Given the description of an element on the screen output the (x, y) to click on. 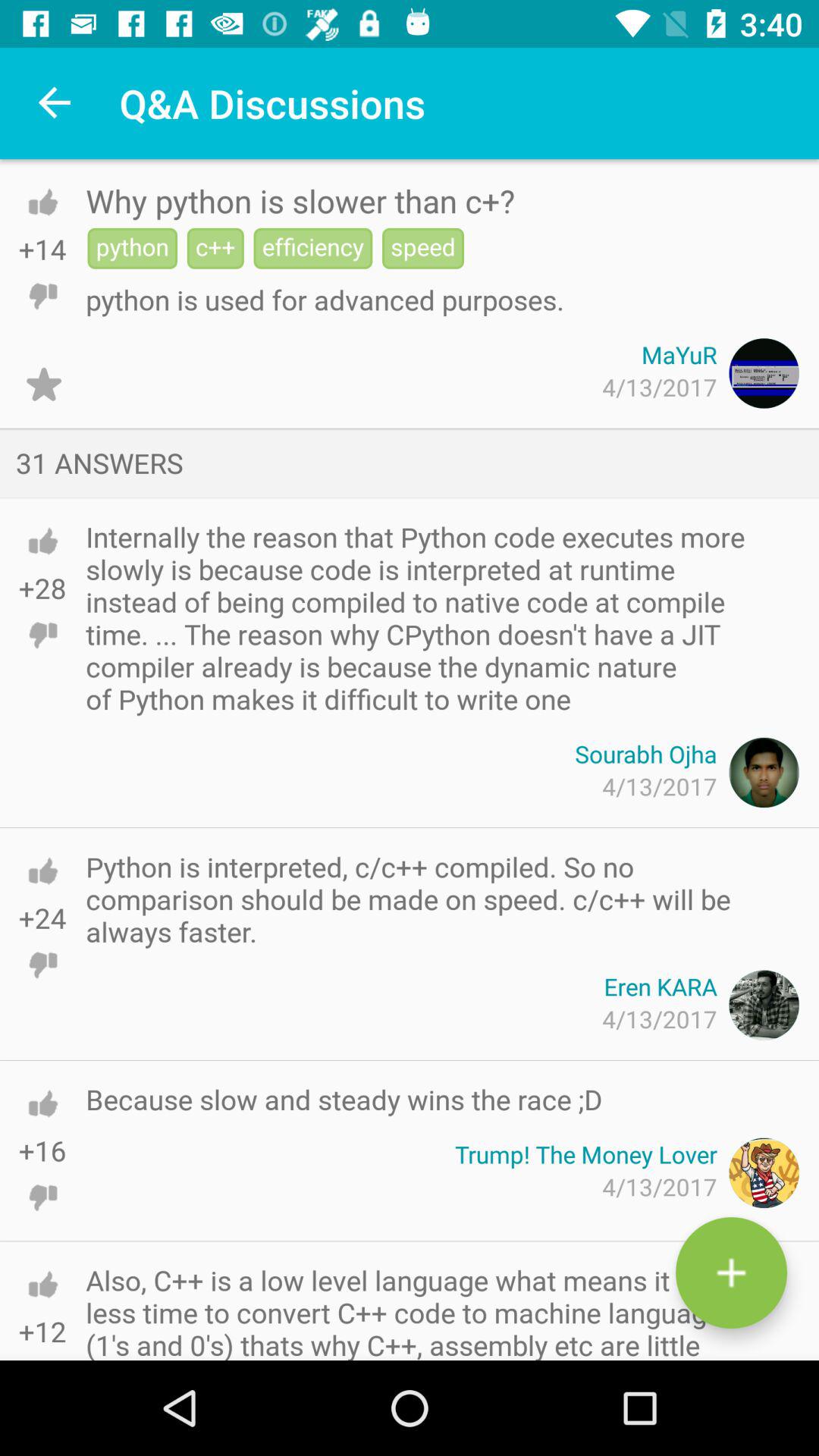
pick thumbs up (42, 1103)
